Given the description of an element on the screen output the (x, y) to click on. 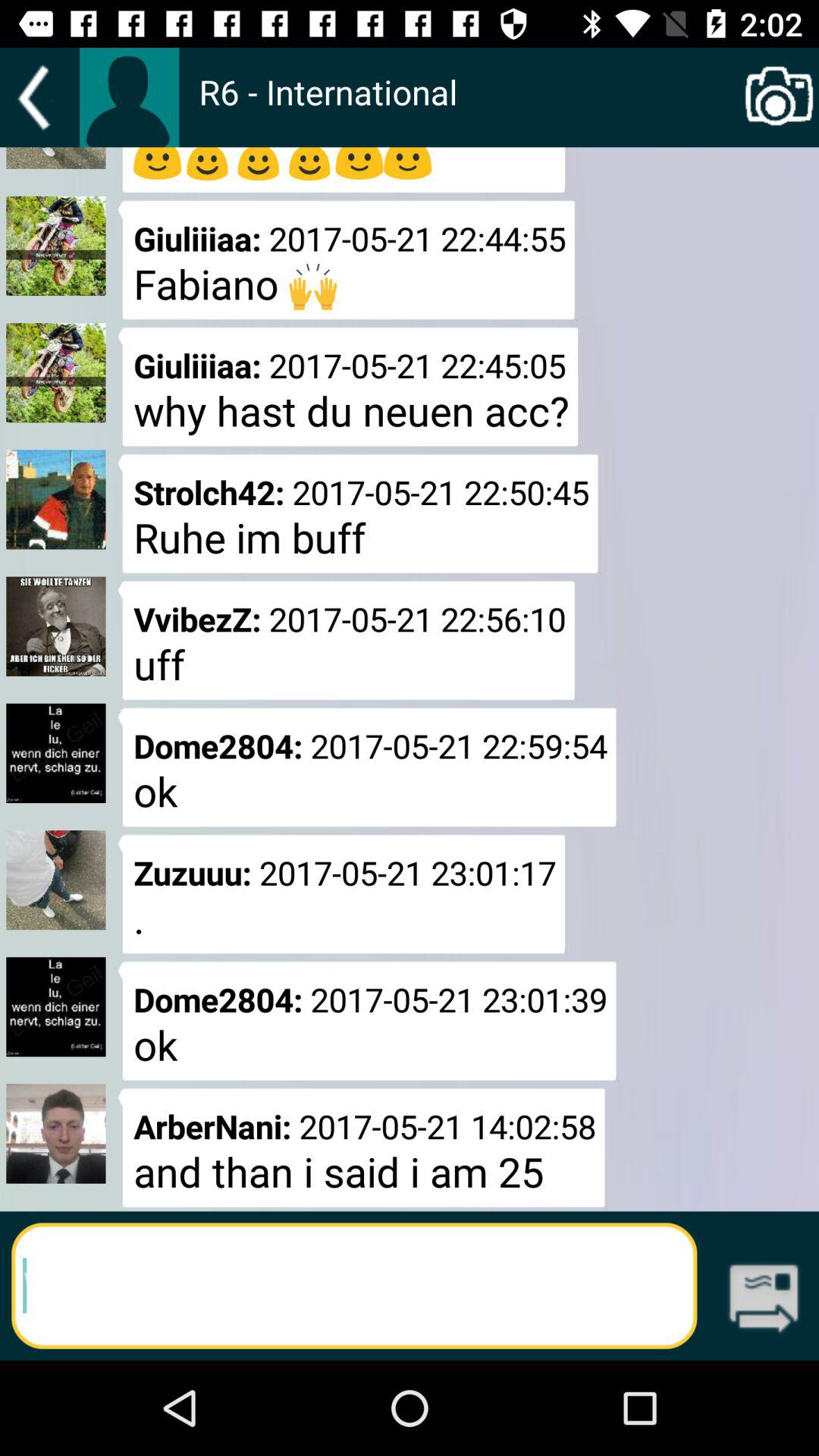
turn off the app below the giuliiiaa 2017 05 item (358, 513)
